Given the description of an element on the screen output the (x, y) to click on. 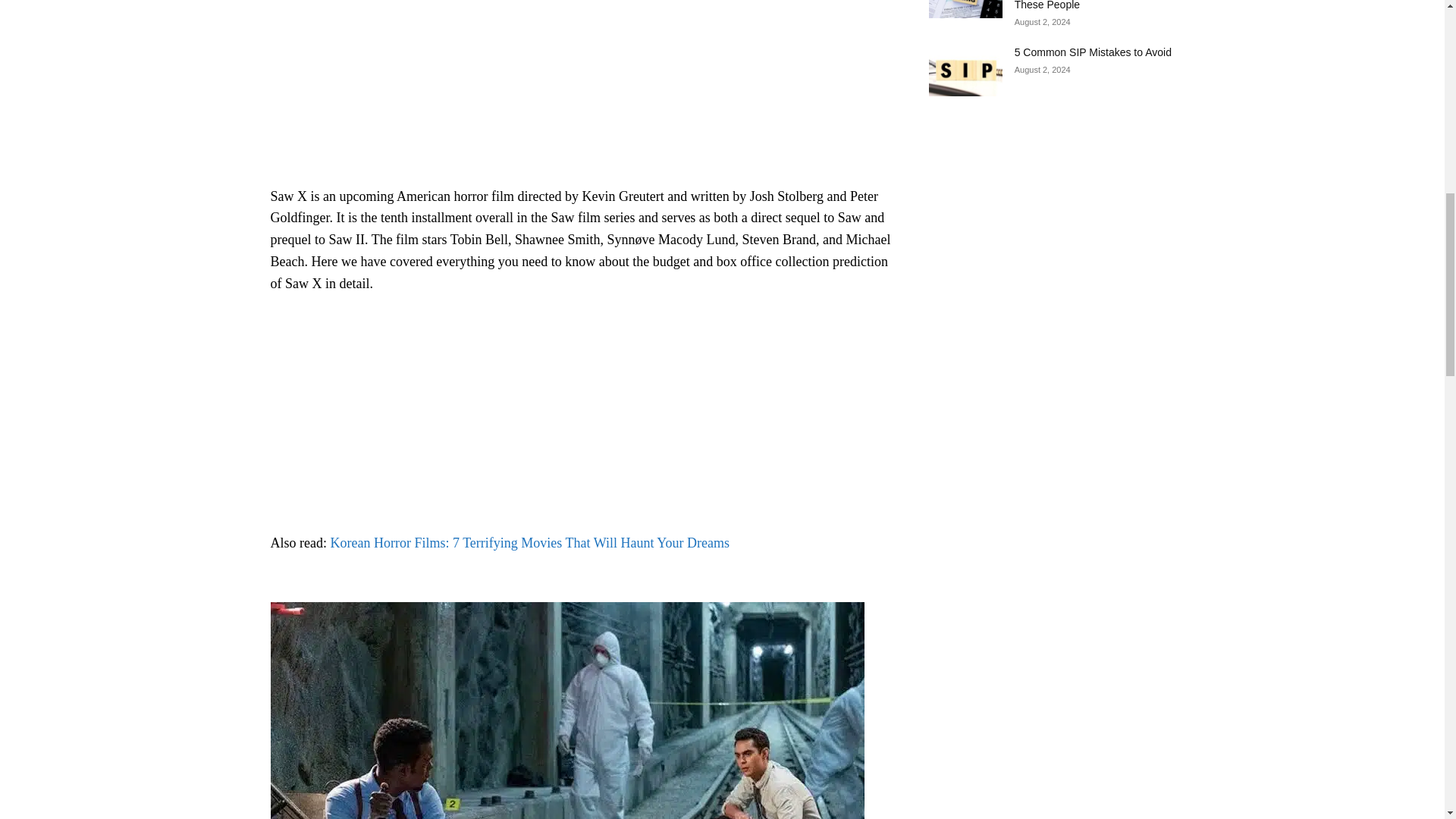
Advertisement (580, 419)
Advertisement (580, 89)
